Given the description of an element on the screen output the (x, y) to click on. 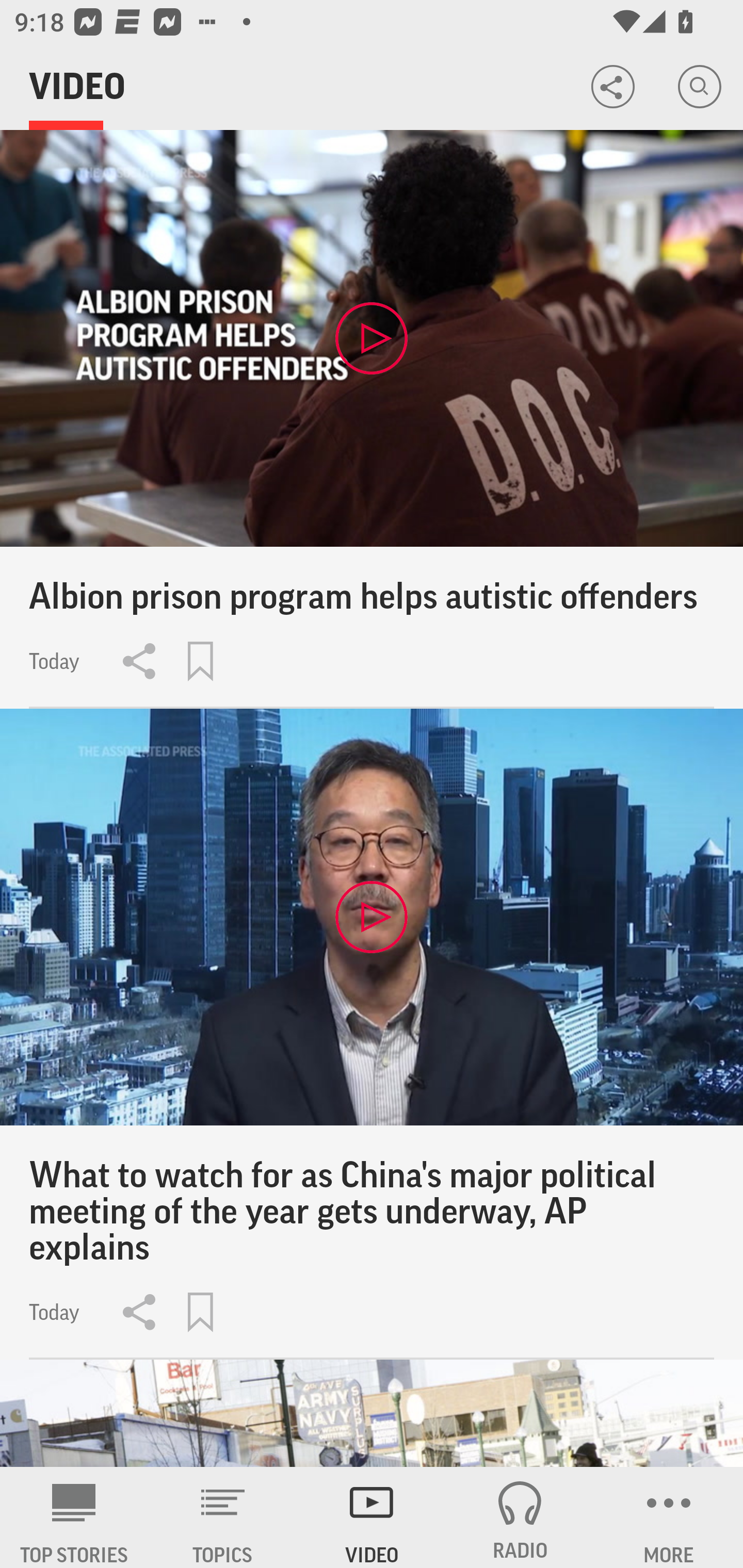
AP News TOP STORIES (74, 1517)
TOPICS (222, 1517)
VIDEO (371, 1517)
RADIO (519, 1517)
MORE (668, 1517)
